Given the description of an element on the screen output the (x, y) to click on. 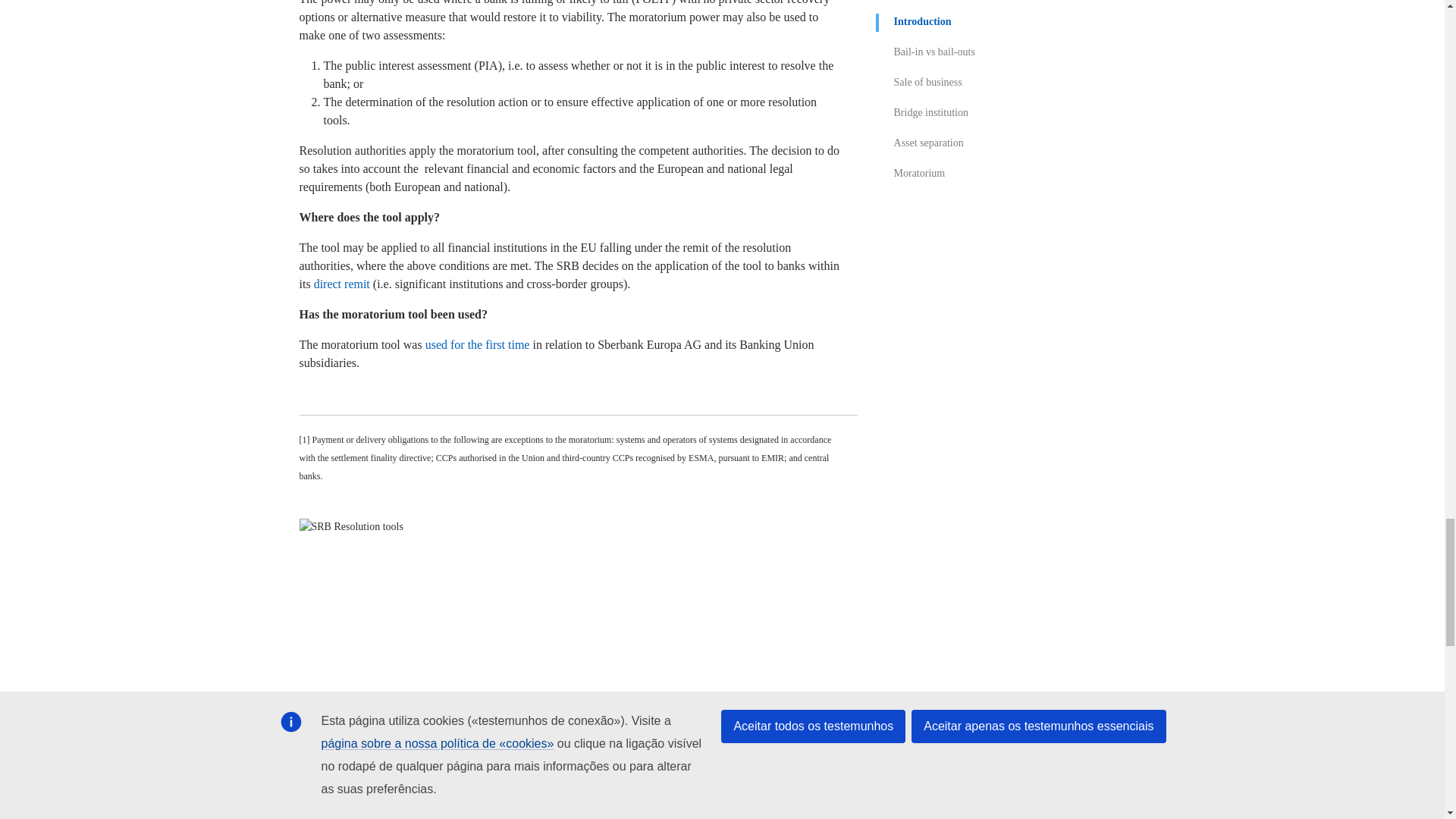
Banks under the SRB's remit  (341, 283)
